Given the description of an element on the screen output the (x, y) to click on. 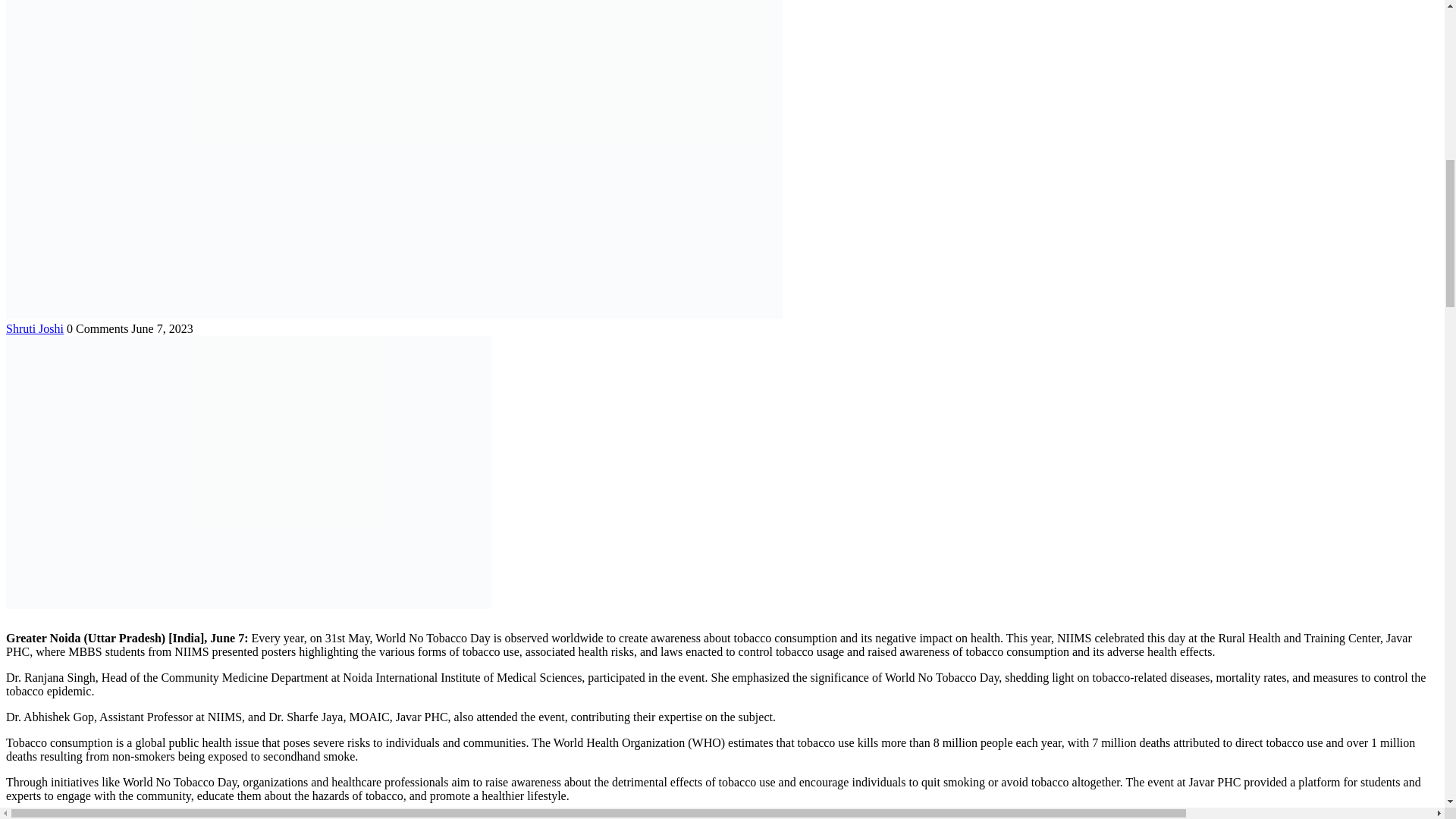
Shruti Joshi (34, 328)
